Given the description of an element on the screen output the (x, y) to click on. 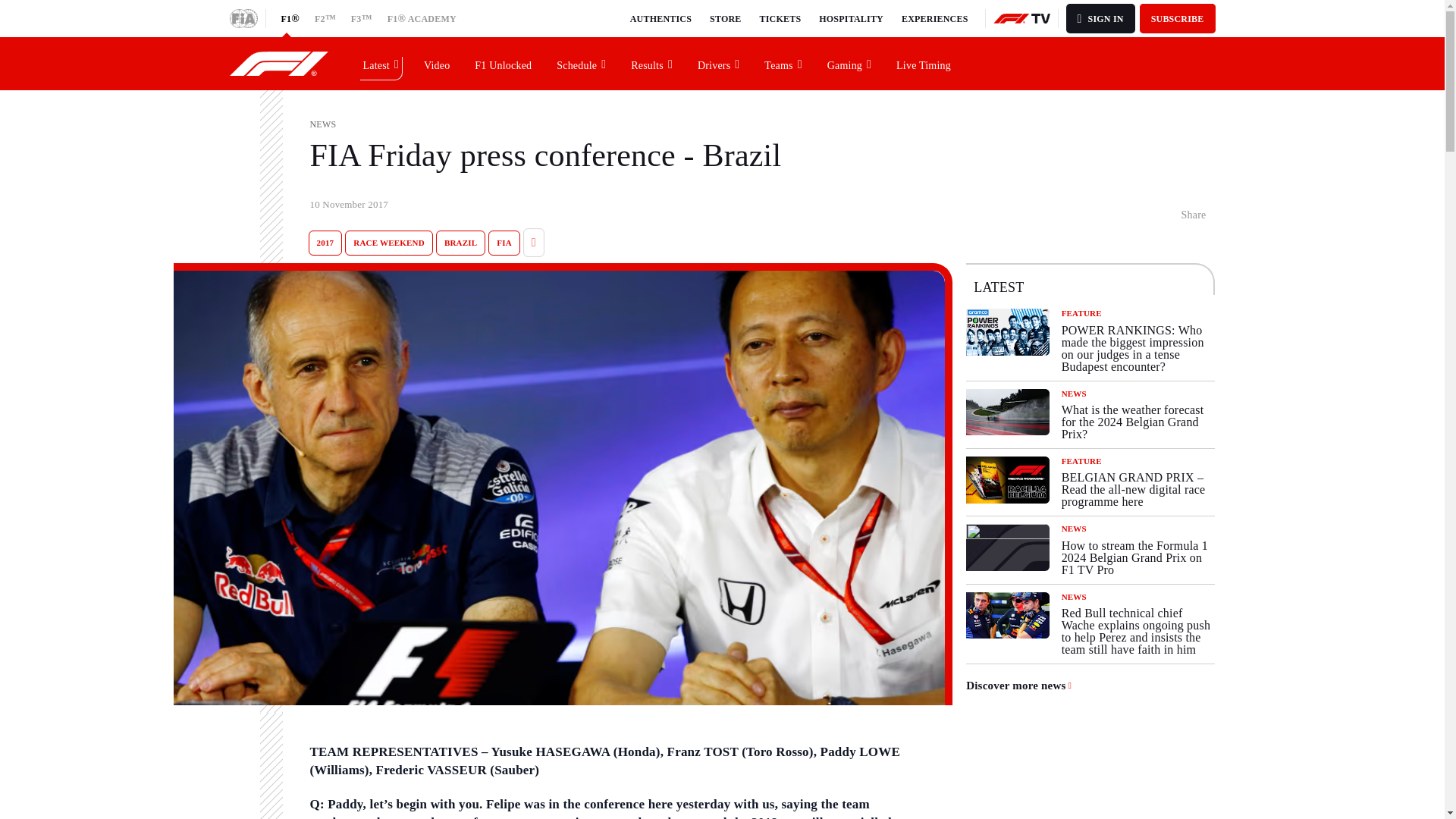
Schedule (581, 63)
Live Timing (923, 63)
Discover more news (1018, 685)
Video (437, 63)
STORE (725, 18)
BRAZIL (459, 242)
RACE WEEKEND (388, 242)
EXPERIENCES (934, 18)
